Given the description of an element on the screen output the (x, y) to click on. 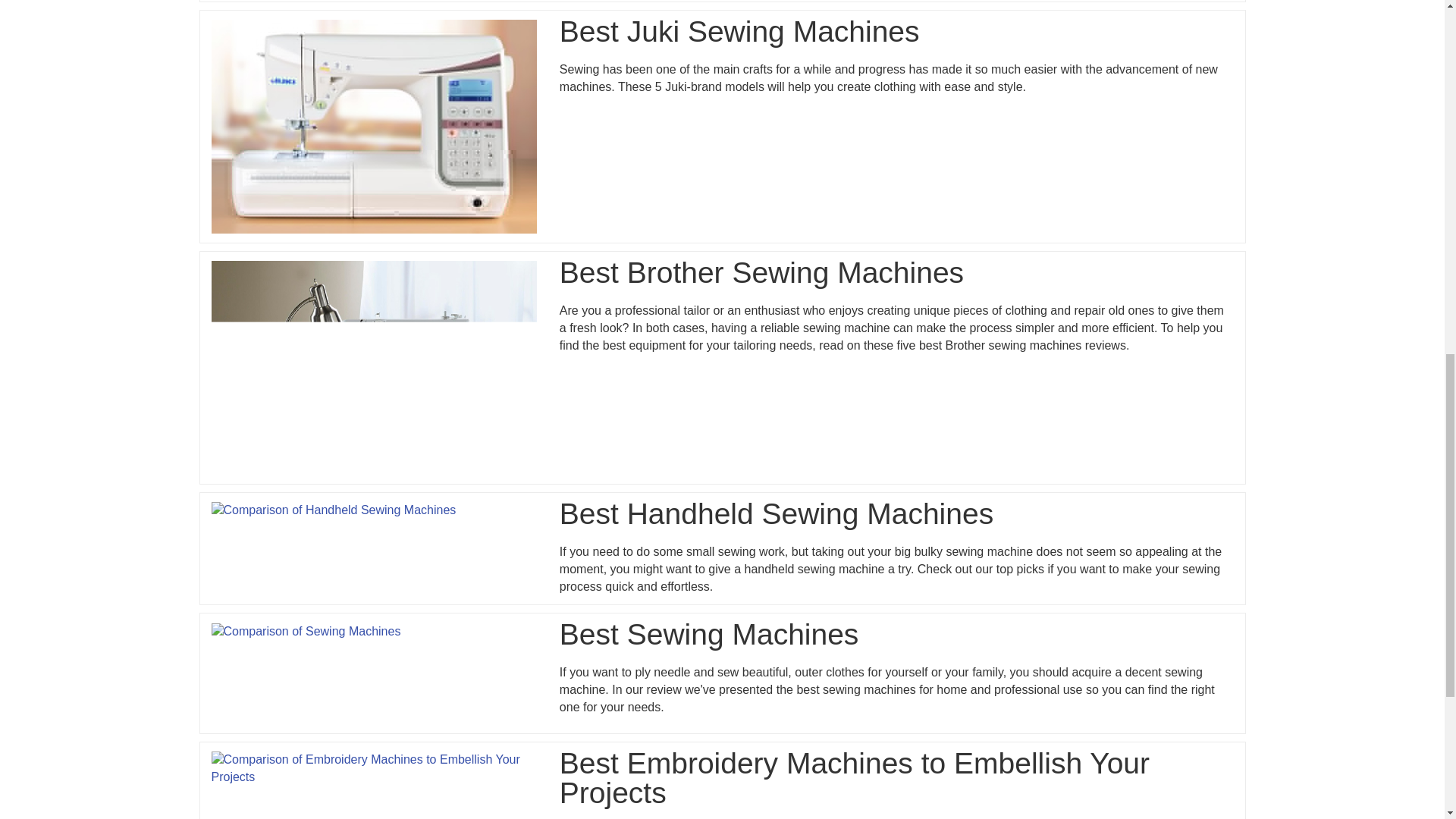
Comparison of Brother Sewing Machines - Bestadvisor (373, 368)
Comparison of Sewing Machines - Bestadvisor (305, 631)
Comparison of Juki Sewing Machines - Bestadvisor (373, 126)
Comparison of Handheld Sewing Machines - Bestadvisor (333, 510)
